Given the description of an element on the screen output the (x, y) to click on. 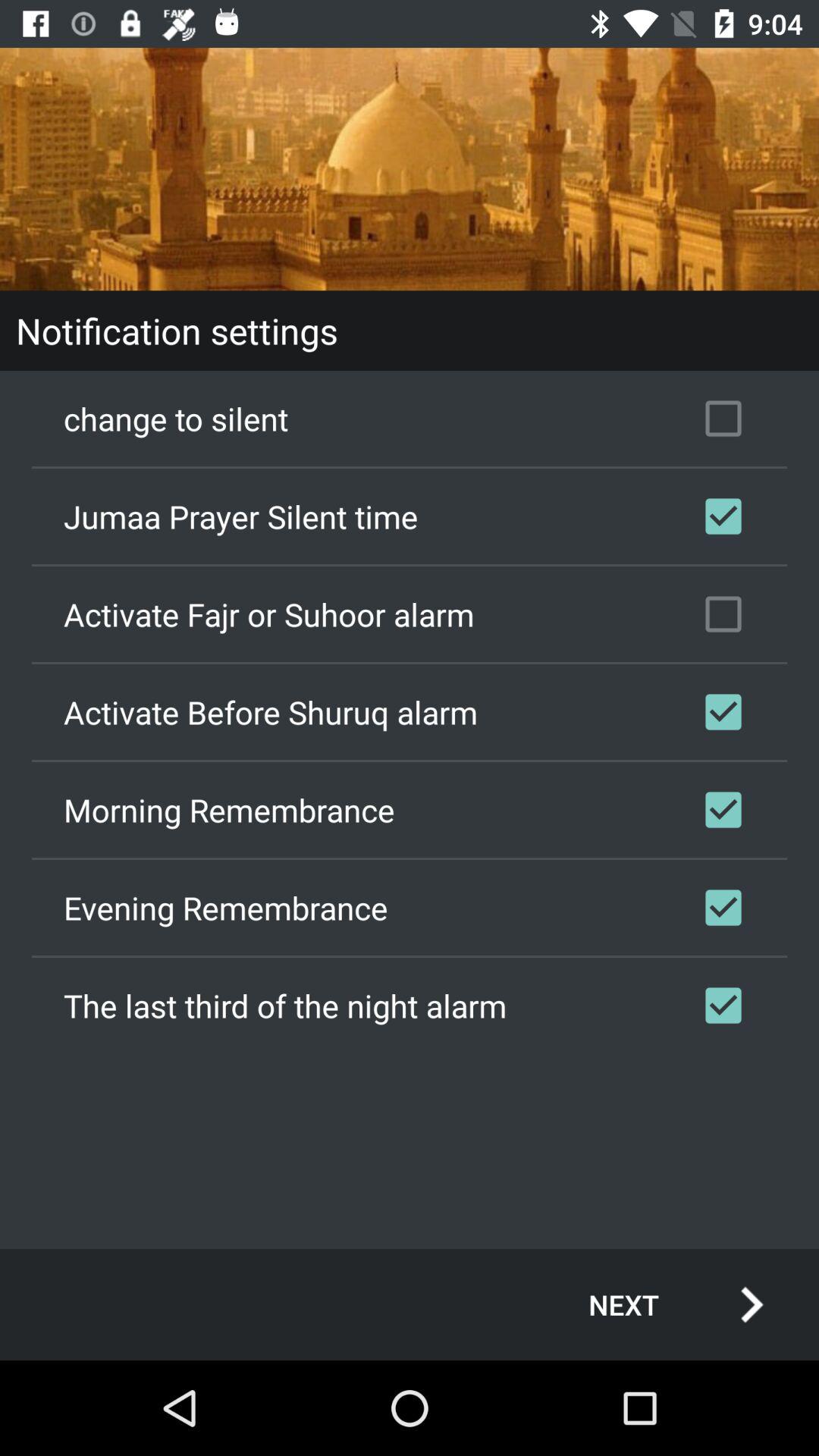
select item below the evening remembrance (409, 1005)
